Given the description of an element on the screen output the (x, y) to click on. 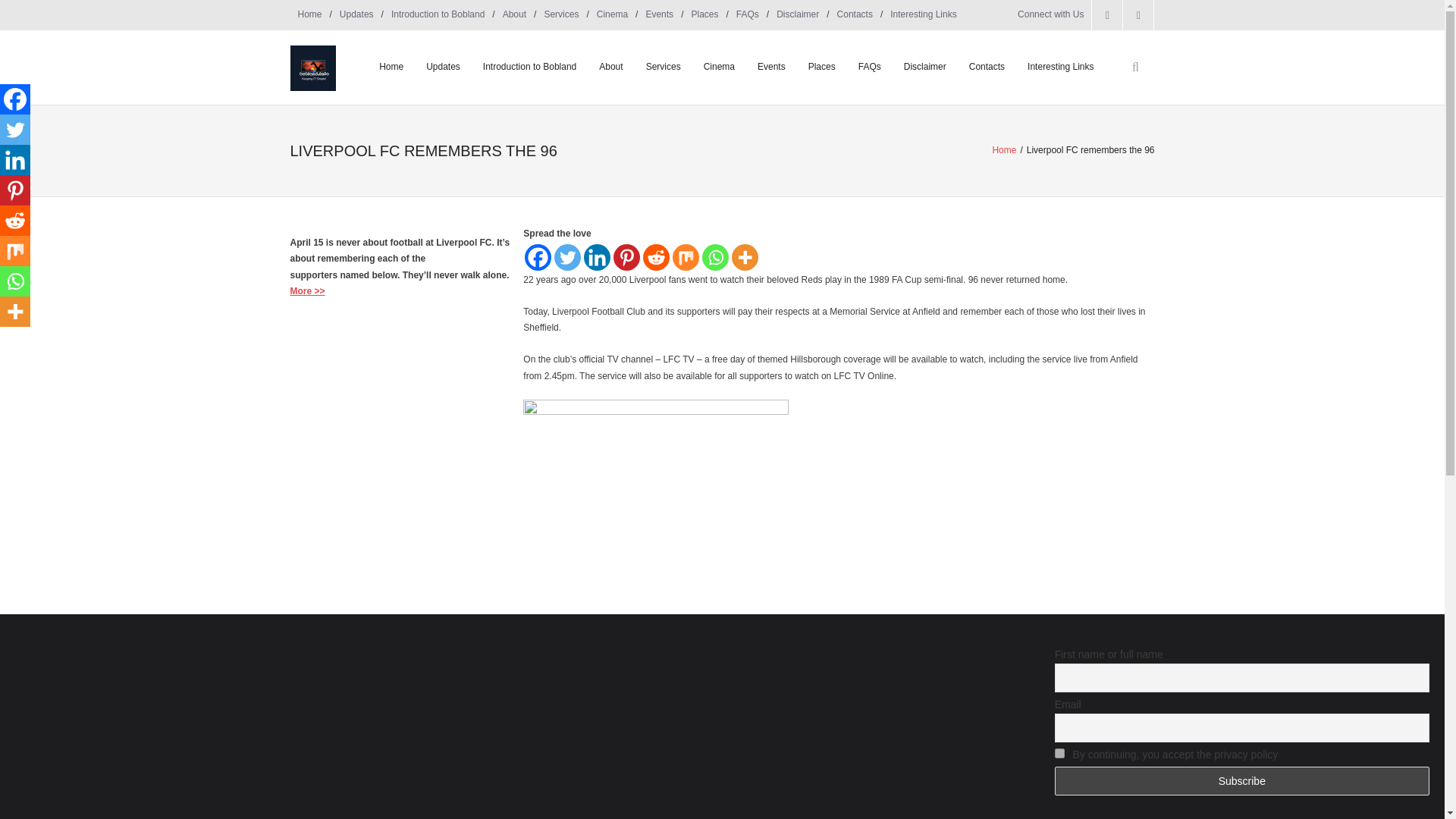
Updates (356, 15)
Twitter (15, 129)
Reddit (656, 257)
Home (309, 15)
Services (560, 15)
Disclaimer (797, 15)
Whatsapp (15, 281)
Mix (15, 250)
About (514, 15)
Cinema (611, 15)
